Given the description of an element on the screen output the (x, y) to click on. 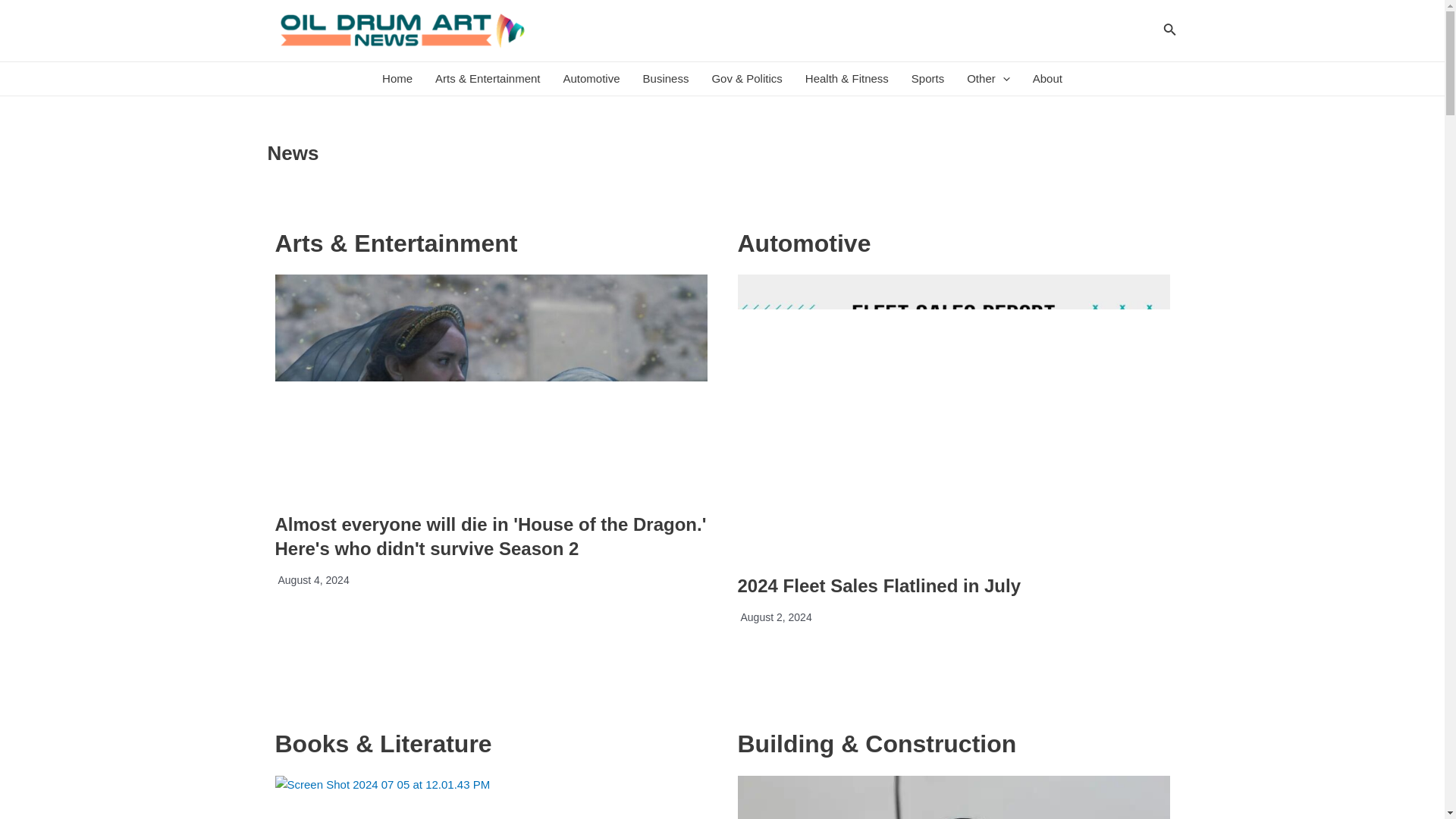
Sports (927, 78)
Automotive (591, 78)
Home (397, 78)
Business (665, 78)
Other (988, 78)
About (1048, 78)
